Given the description of an element on the screen output the (x, y) to click on. 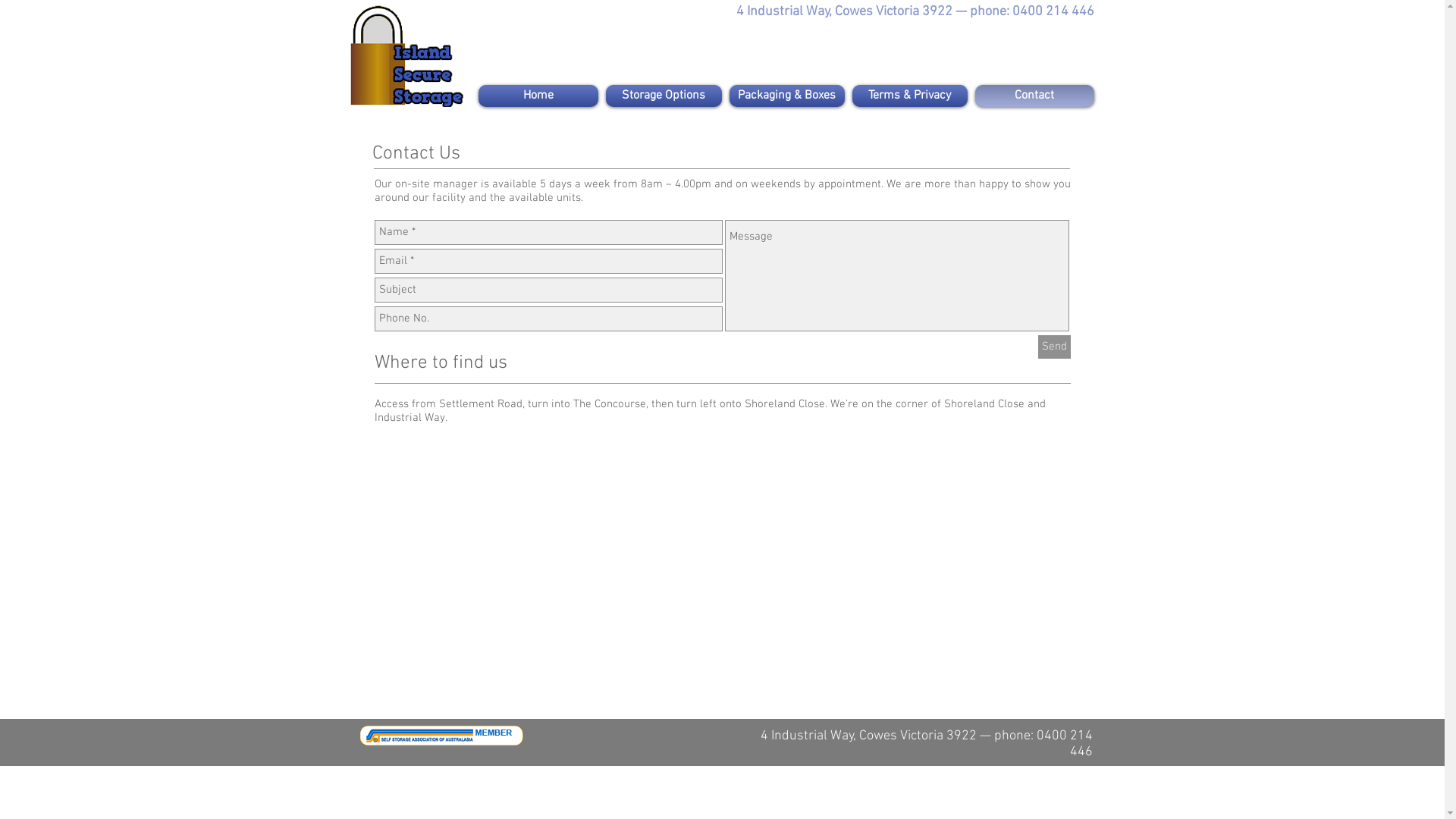
Send Element type: text (1053, 346)
Contact Element type: text (1031, 95)
Google Maps Element type: hover (722, 569)
Terms & Privacy Element type: text (908, 95)
Packaging & Boxes Element type: text (785, 95)
Storage Options Element type: text (663, 95)
Home Element type: text (539, 95)
